Given the description of an element on the screen output the (x, y) to click on. 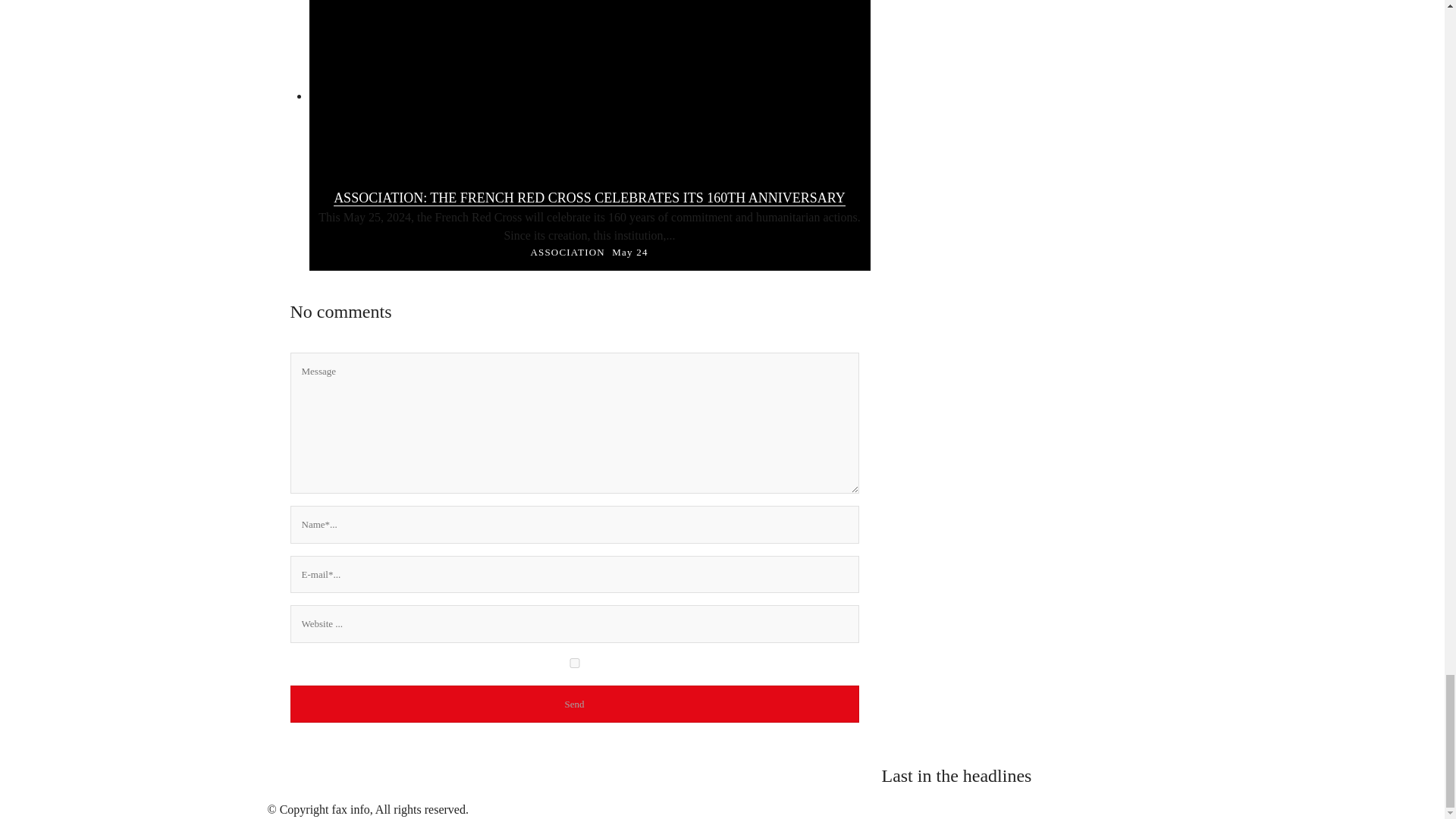
yes (574, 663)
Send (574, 704)
